Given the description of an element on the screen output the (x, y) to click on. 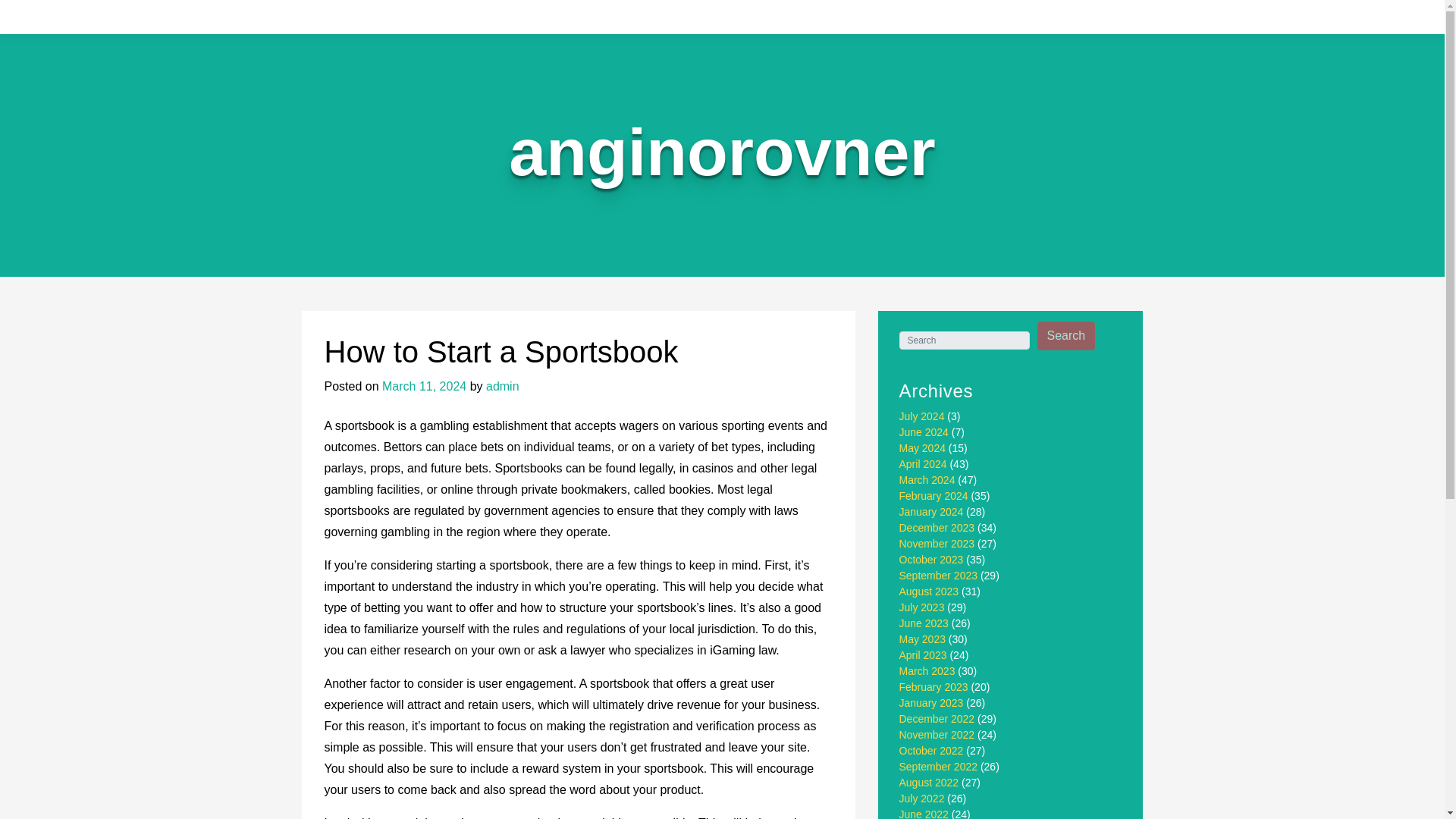
March 2023 (927, 671)
February 2023 (933, 686)
January 2023 (931, 702)
April 2023 (923, 654)
August 2023 (929, 591)
March 11, 2024 (423, 386)
admin (502, 386)
June 2024 (924, 431)
November 2023 (937, 543)
February 2024 (933, 495)
May 2024 (921, 448)
November 2022 (937, 734)
September 2022 (938, 766)
October 2023 (931, 559)
December 2023 (937, 527)
